Given the description of an element on the screen output the (x, y) to click on. 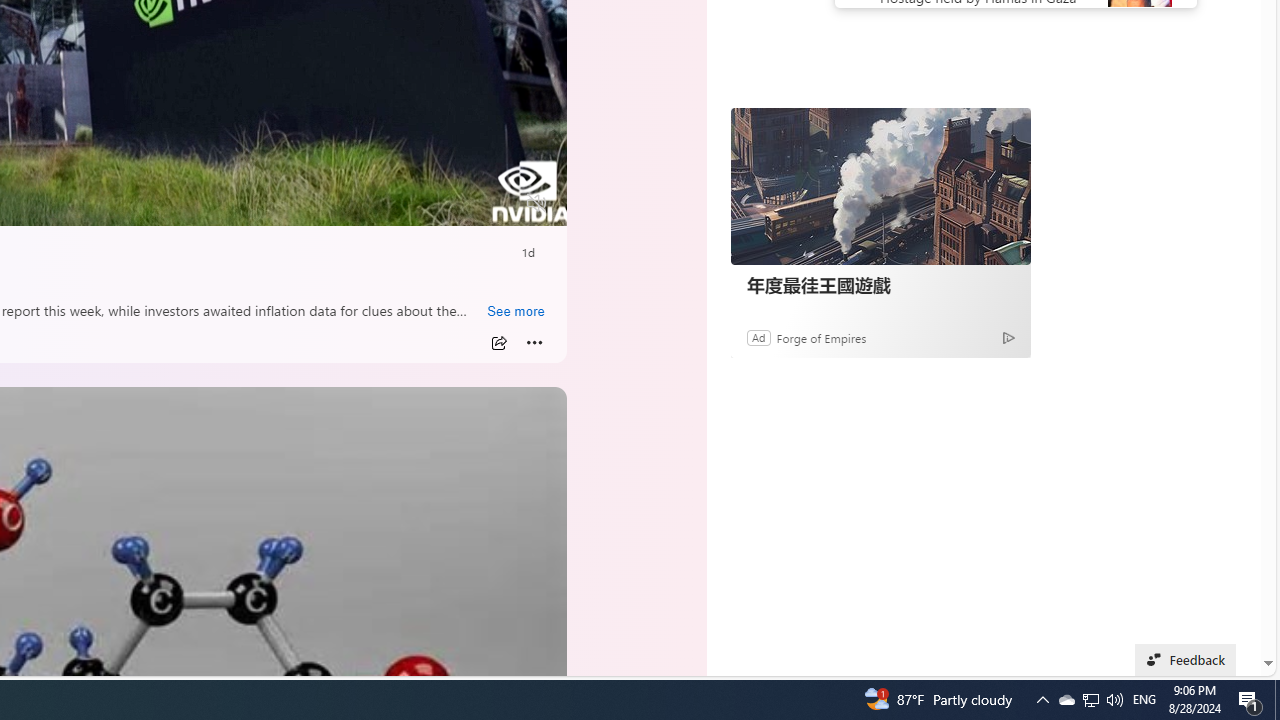
Share (498, 343)
Captions (457, 203)
Quality Settings (418, 203)
Unmute (535, 203)
Fullscreen (497, 203)
Share (498, 343)
Forge of Empires (820, 337)
